Given the description of an element on the screen output the (x, y) to click on. 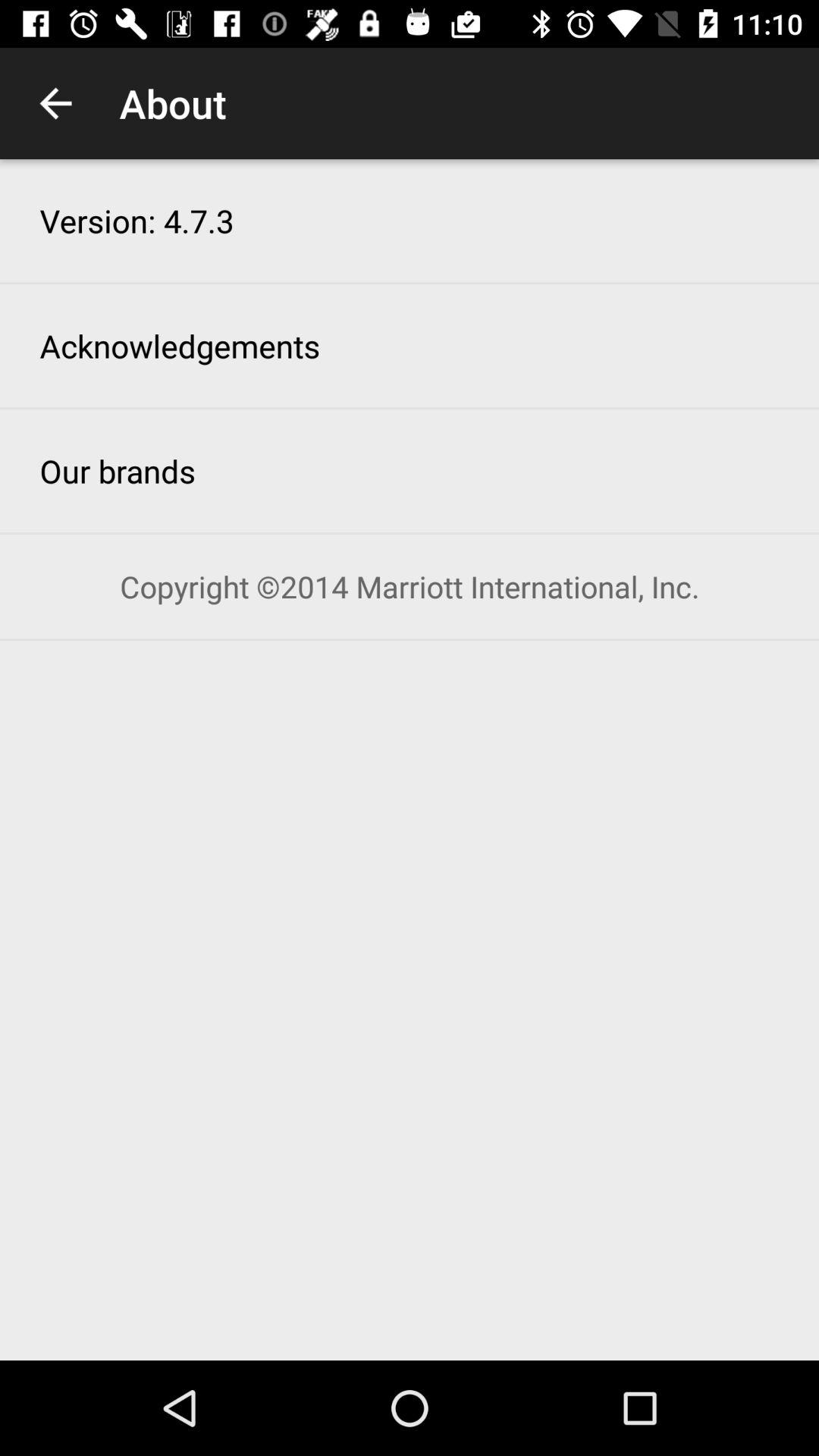
jump to the copyright 2014 marriott item (409, 586)
